Given the description of an element on the screen output the (x, y) to click on. 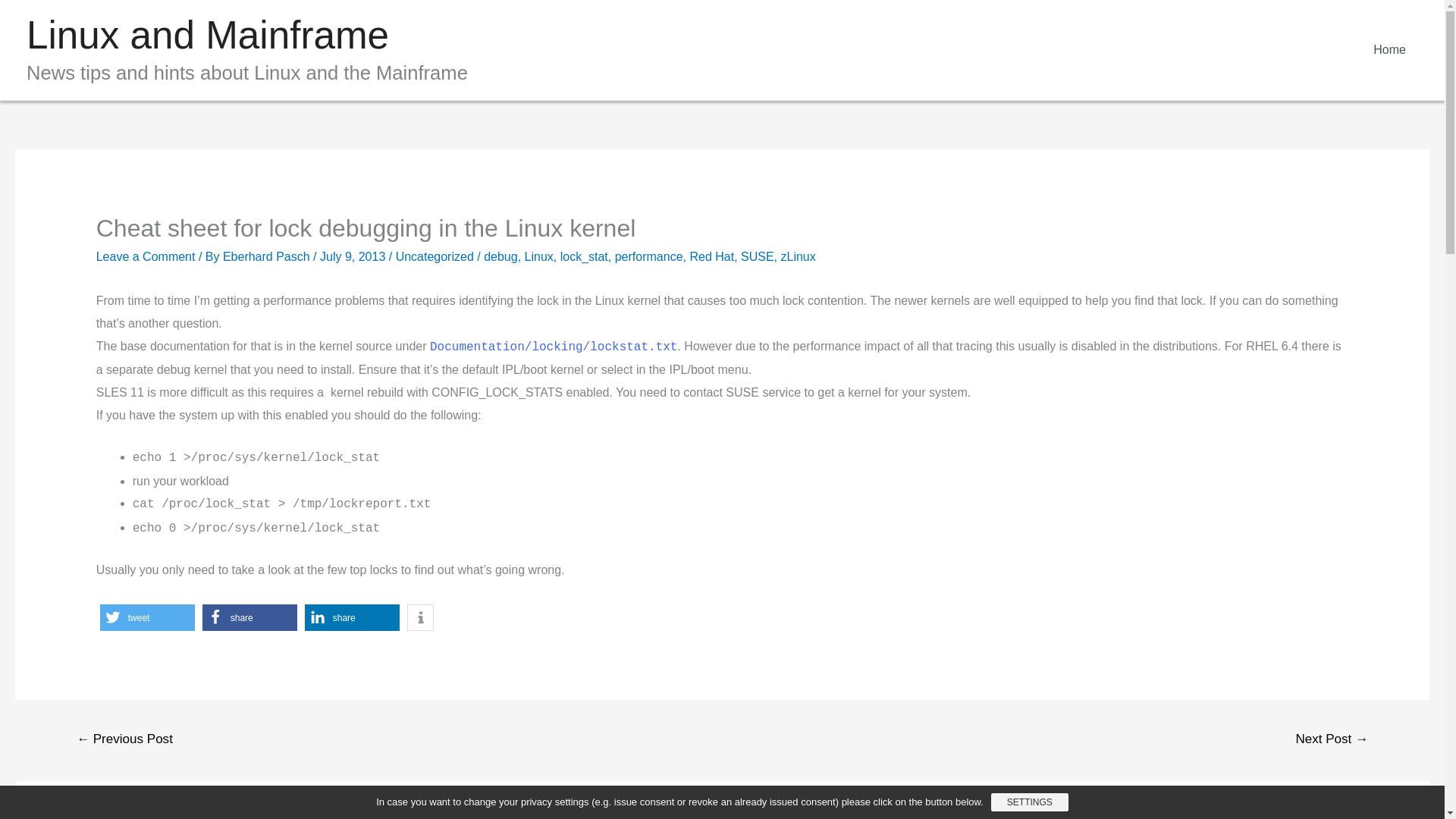
More information (420, 617)
share  (249, 617)
debug (500, 256)
zLinux (797, 256)
Share on LinkedIn (351, 617)
Linux (538, 256)
Home (1389, 49)
Share on Twitter (147, 617)
Share on Facebook (249, 617)
Eberhard Pasch (267, 256)
